Given the description of an element on the screen output the (x, y) to click on. 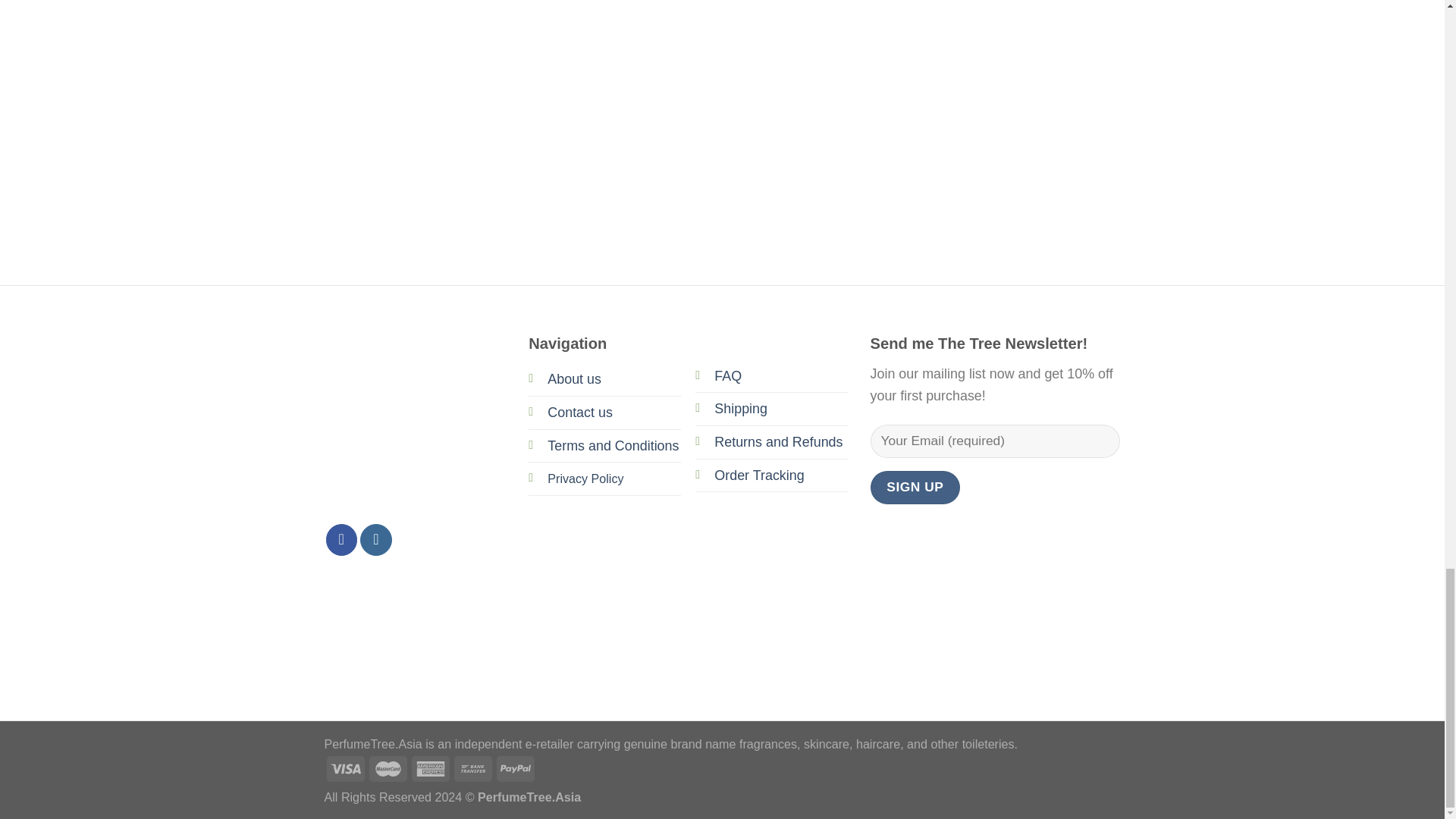
Sign Up (915, 487)
